Given the description of an element on the screen output the (x, y) to click on. 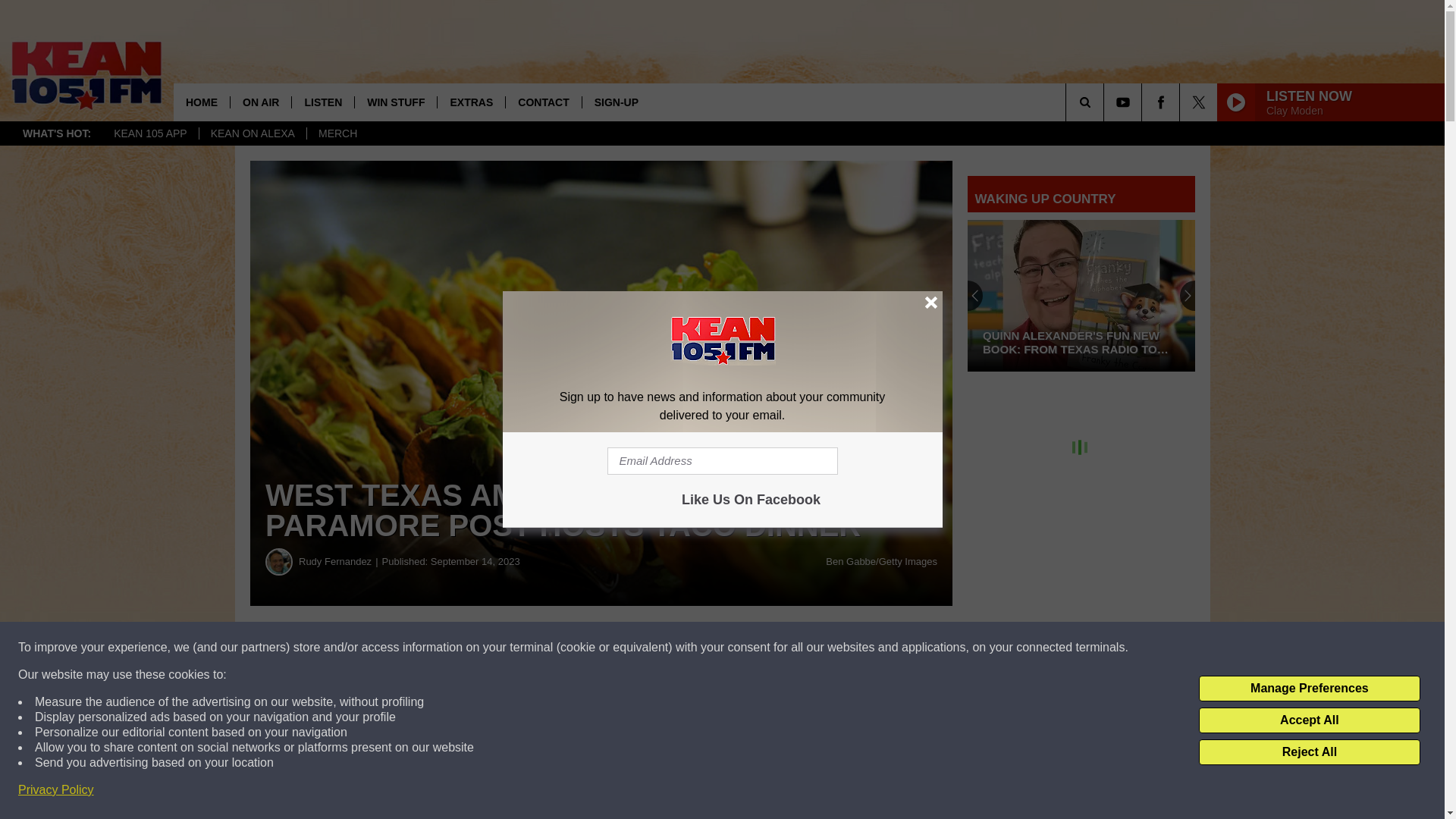
MERCH (336, 133)
HOME (201, 102)
KEAN 105 APP (149, 133)
KEAN ON ALEXA (251, 133)
Accept All (1309, 720)
ON AIR (260, 102)
SEARCH (1106, 102)
WIN STUFF (394, 102)
LISTEN (322, 102)
Share on Facebook (460, 647)
Reject All (1309, 751)
WHAT'S HOT: (56, 133)
EXTRAS (470, 102)
Email Address (722, 461)
Privacy Policy (55, 789)
